Given the description of an element on the screen output the (x, y) to click on. 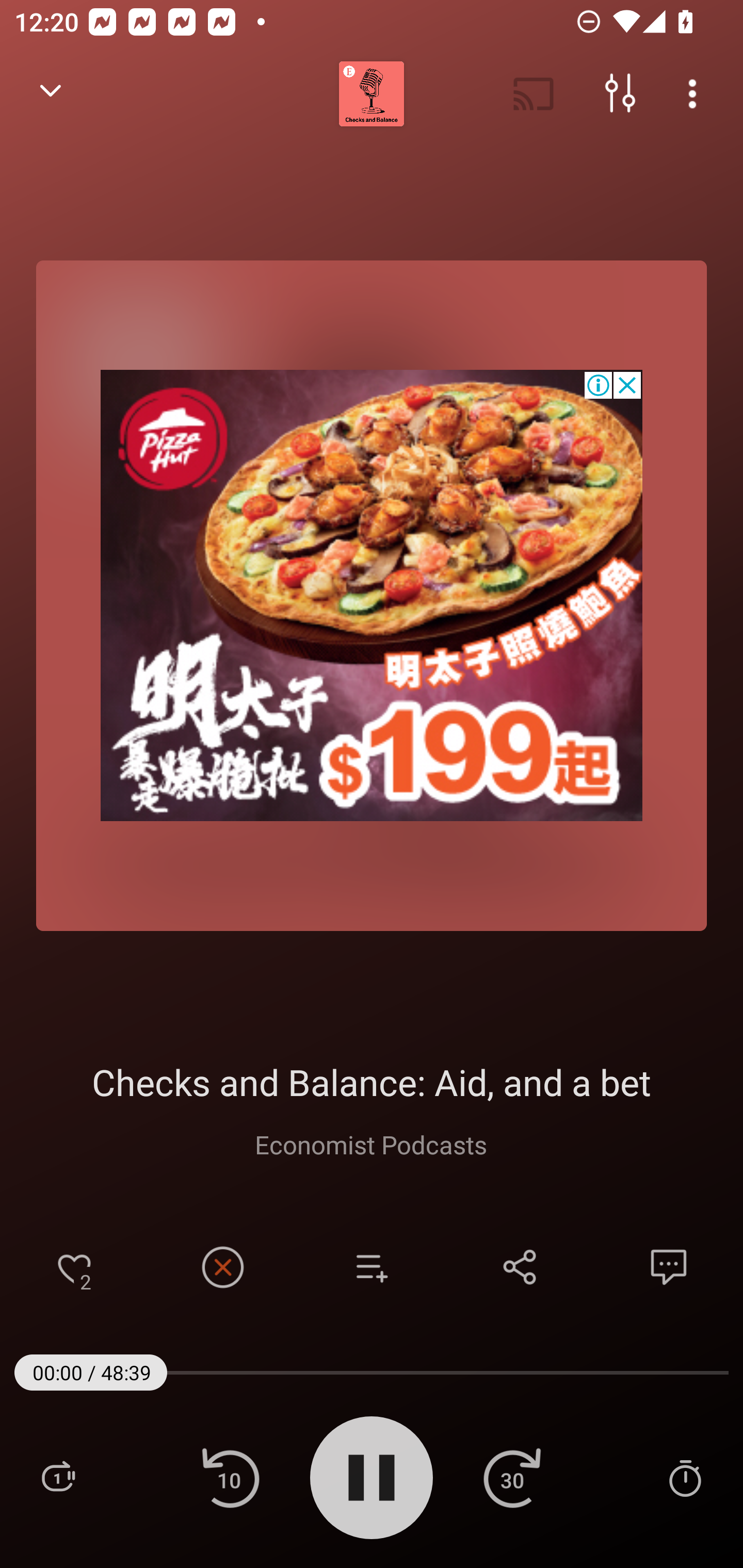
Cast. Disconnected (533, 93)
 Back (50, 94)
Advertisement (371, 595)
Checks and Balance: Aid, and a bet (371, 1081)
Economist Podcasts (370, 1144)
Comments (668, 1266)
Add to Favorites (73, 1266)
Add to playlist (371, 1266)
Share (519, 1266)
 Playlist (57, 1477)
Sleep Timer  (684, 1477)
